Given the description of an element on the screen output the (x, y) to click on. 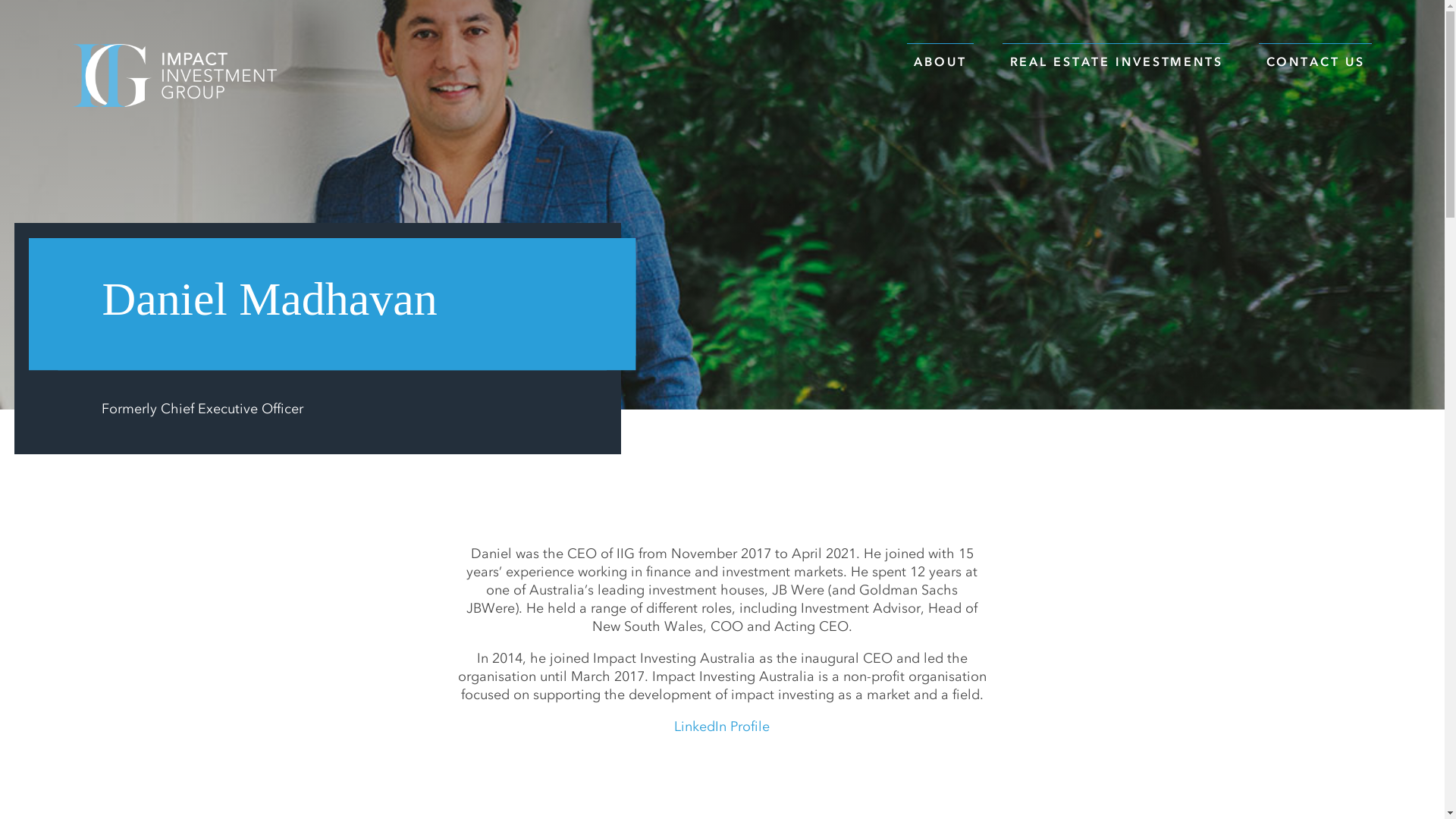
Daniel Madhavan Element type: hover (722, 204)
REAL ESTATE INVESTMENTS Element type: text (1116, 56)
CONTACT US Element type: text (1314, 56)
ABOUT Element type: text (940, 56)
LinkedIn Profile Element type: text (721, 726)
